Given the description of an element on the screen output the (x, y) to click on. 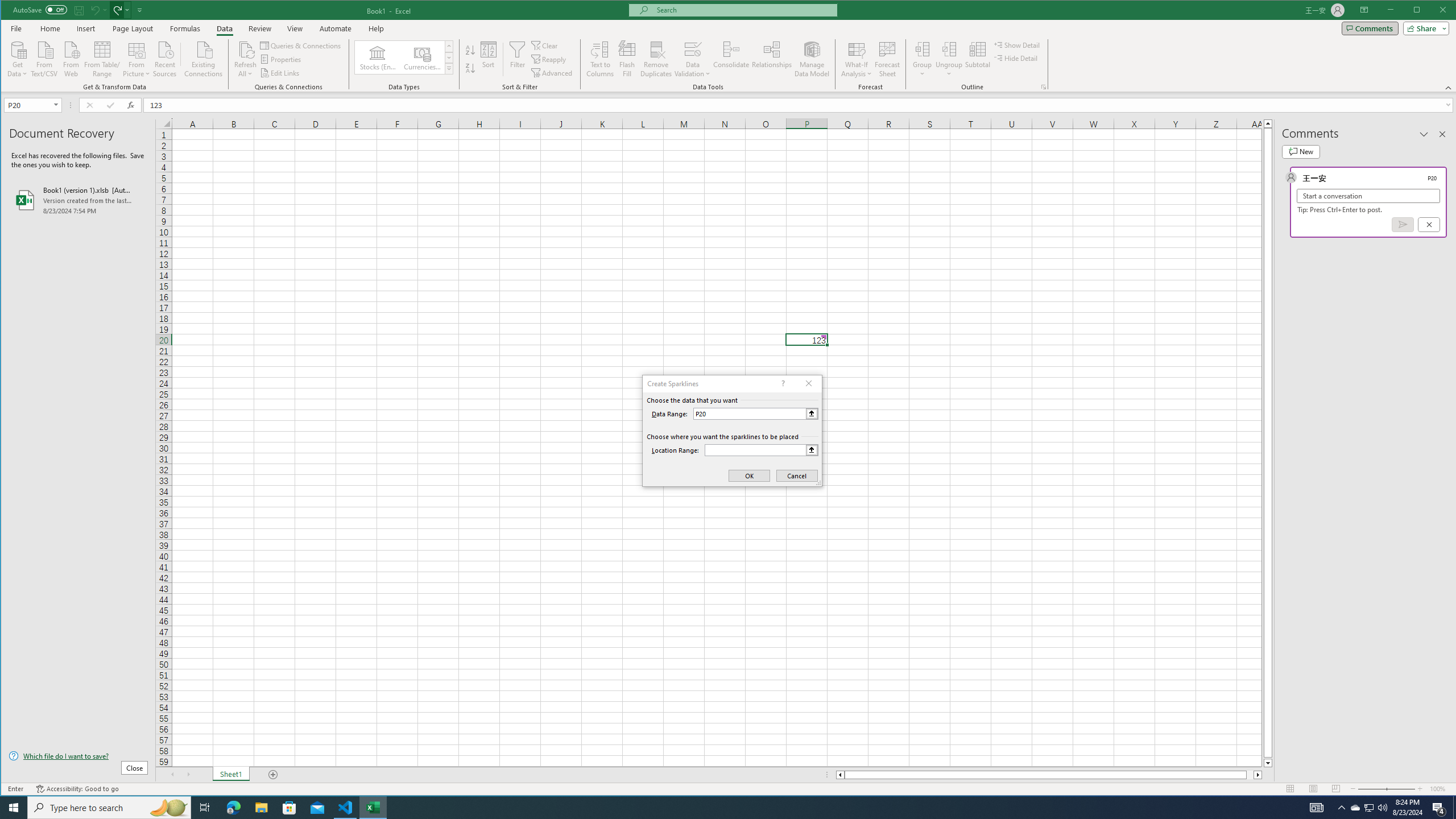
Ungroup... (948, 48)
Group... (922, 59)
Sort Smallest to Largest (470, 49)
Hide Detail (1016, 57)
Book1 (version 1).xlsb  [AutoRecovered] (78, 199)
Refresh All (244, 48)
Sort Largest to Smallest (470, 68)
Get Data (17, 57)
Currencies (English) (422, 57)
AutoSave (39, 9)
